Given the description of an element on the screen output the (x, y) to click on. 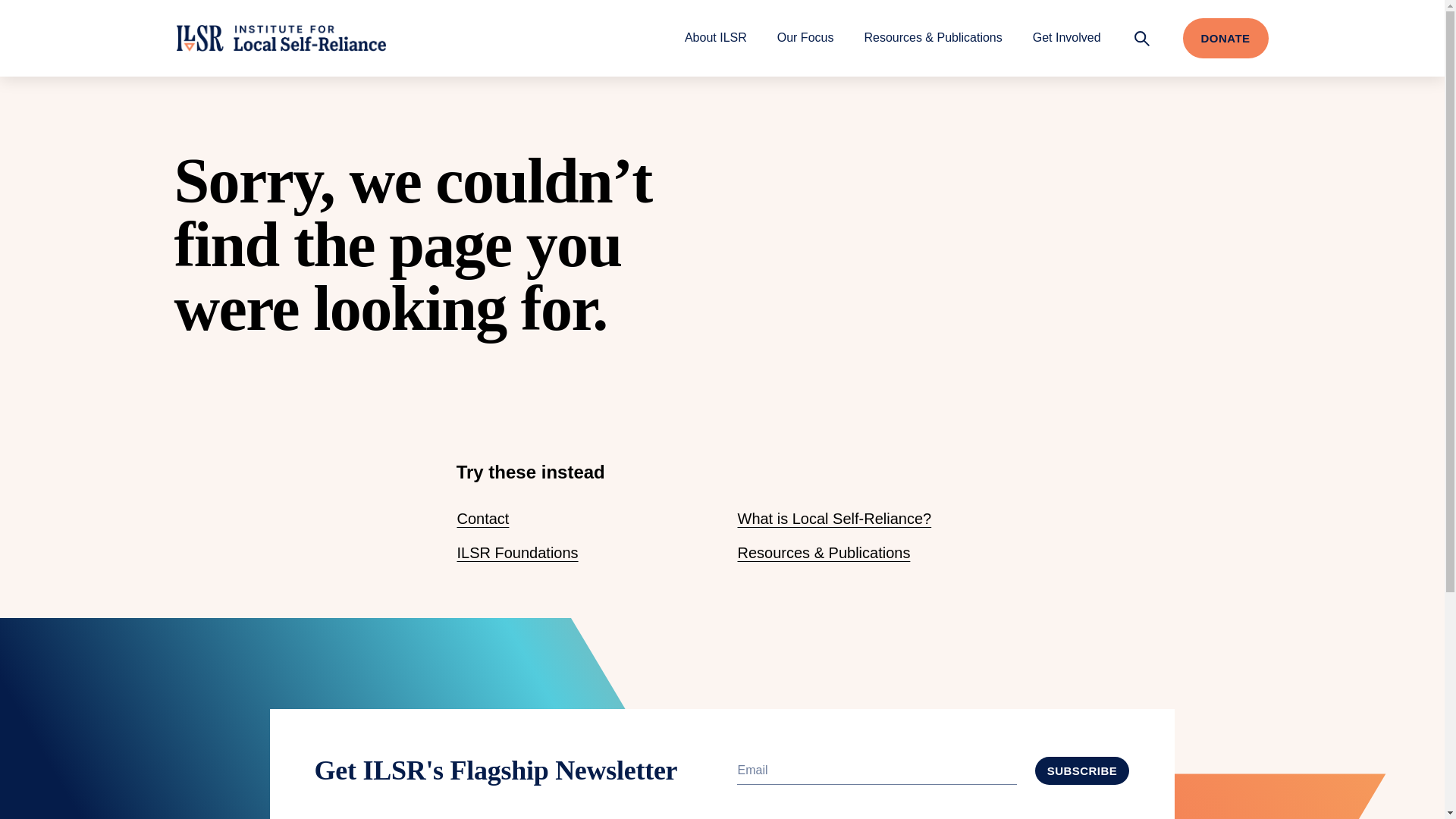
Our Focus (805, 37)
Contact (482, 518)
SUBSCRIBE (1082, 770)
ILSR Foundations (517, 552)
About ILSR (715, 37)
Get Involved (1066, 37)
What is Local Self-Reliance? (833, 518)
ILSR (280, 38)
SEARCH (1142, 37)
DONATE (1225, 38)
